Given the description of an element on the screen output the (x, y) to click on. 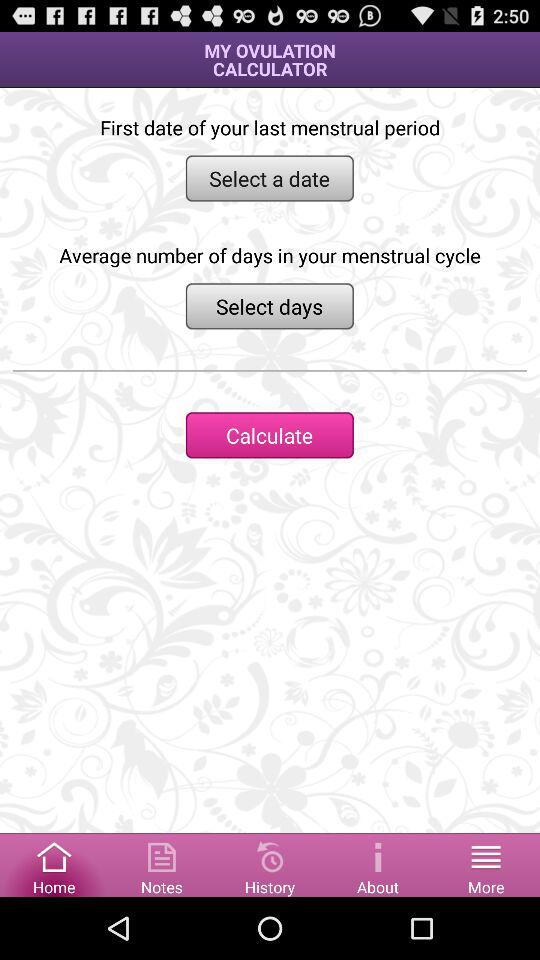
bring up information (378, 864)
